Given the description of an element on the screen output the (x, y) to click on. 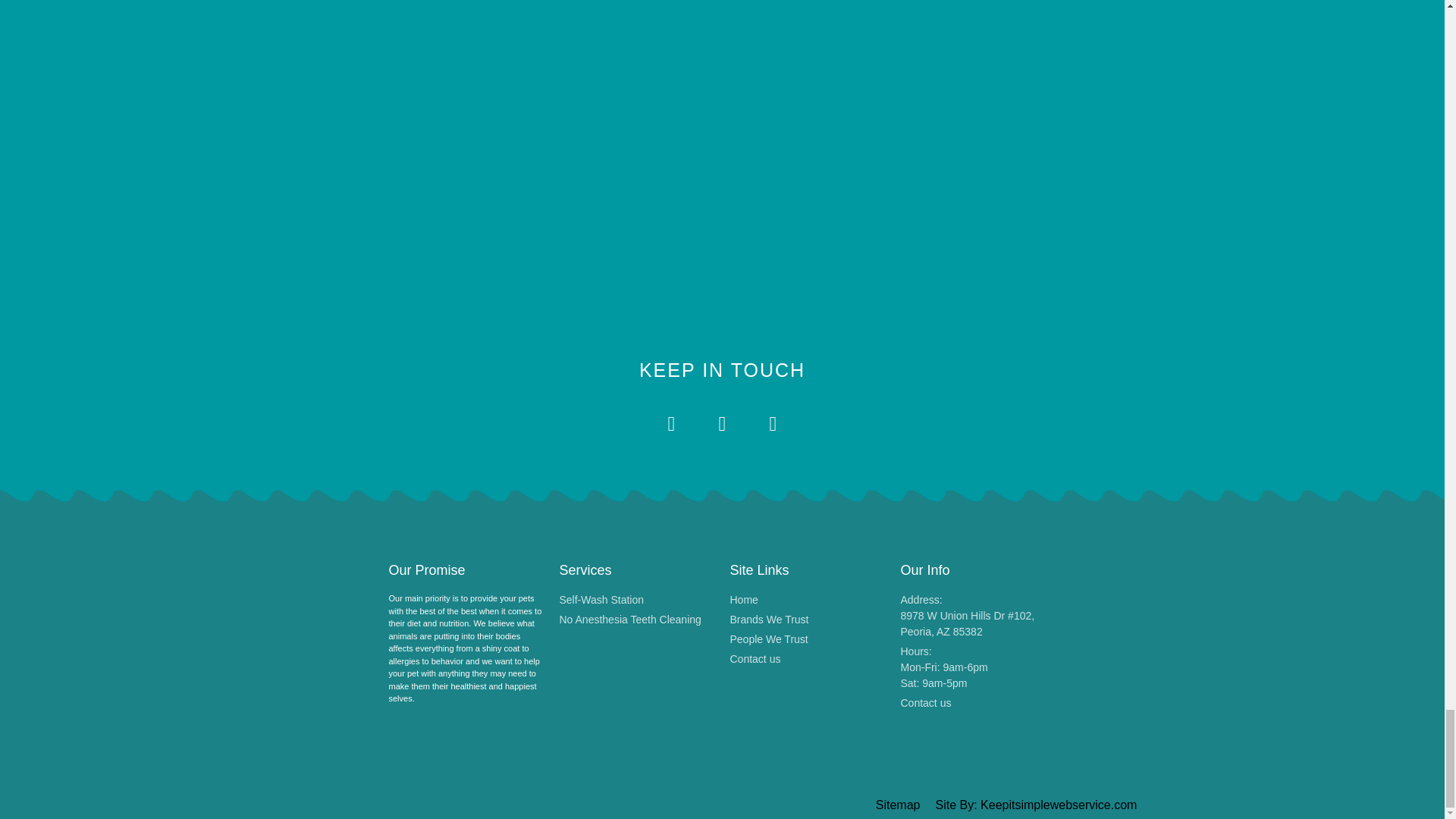
Contact us (807, 659)
Contact us (979, 703)
Self-Wash Station (979, 667)
People We Trust (636, 600)
Site By: Keepitsimplewebservice.com (807, 639)
Home (1036, 804)
Brands We Trust (807, 600)
